Given the description of an element on the screen output the (x, y) to click on. 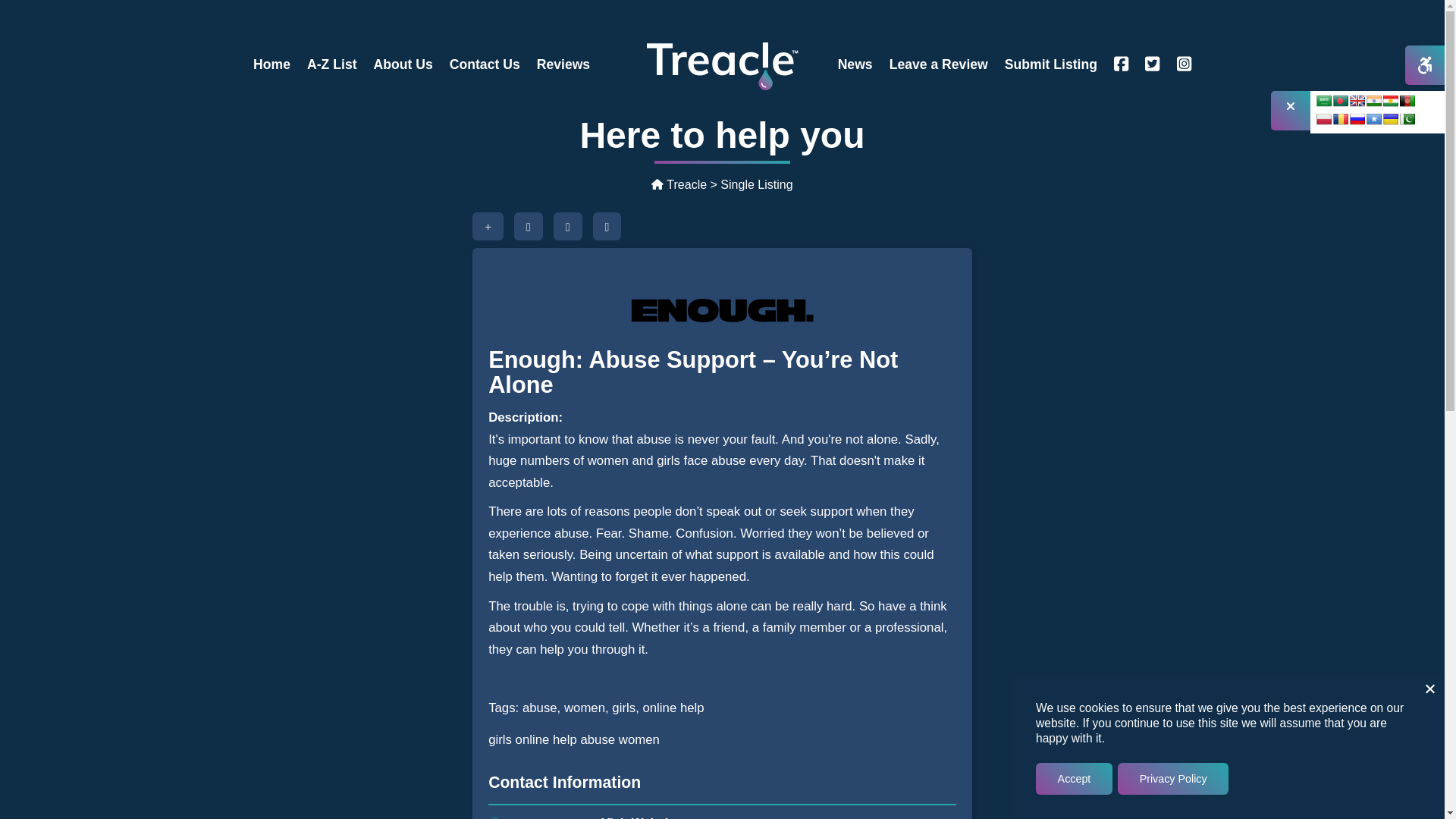
Accessibility Tools (1424, 64)
Treacle (678, 184)
Somali (1374, 119)
Contact Us (483, 64)
online help (545, 739)
Kurdish (1390, 101)
A-Z List (330, 64)
Home (271, 64)
Gujarati (1374, 101)
Polish (1324, 119)
Urdu (1407, 119)
Romanian (1340, 119)
women (638, 739)
Russian (1357, 119)
Go to Treacle. (678, 184)
